Given the description of an element on the screen output the (x, y) to click on. 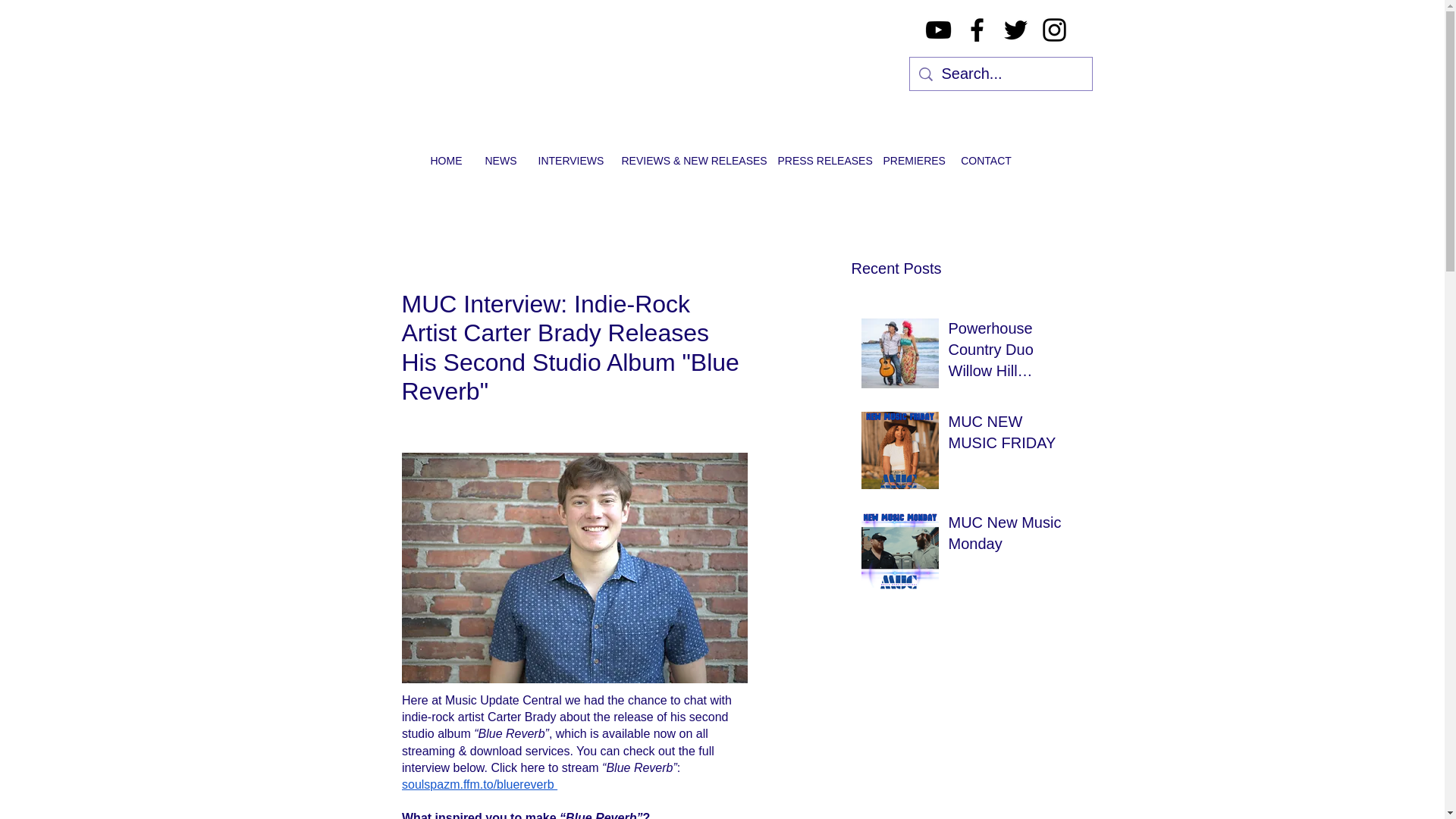
MUC NEW MUSIC FRIDAY (1007, 435)
INTERVIEWS (567, 160)
CONTACT (986, 160)
PREMIERES (910, 160)
HOME (446, 160)
PRESS RELEASES (817, 160)
NEWS (499, 160)
MUC New Music Monday (1007, 535)
